Given the description of an element on the screen output the (x, y) to click on. 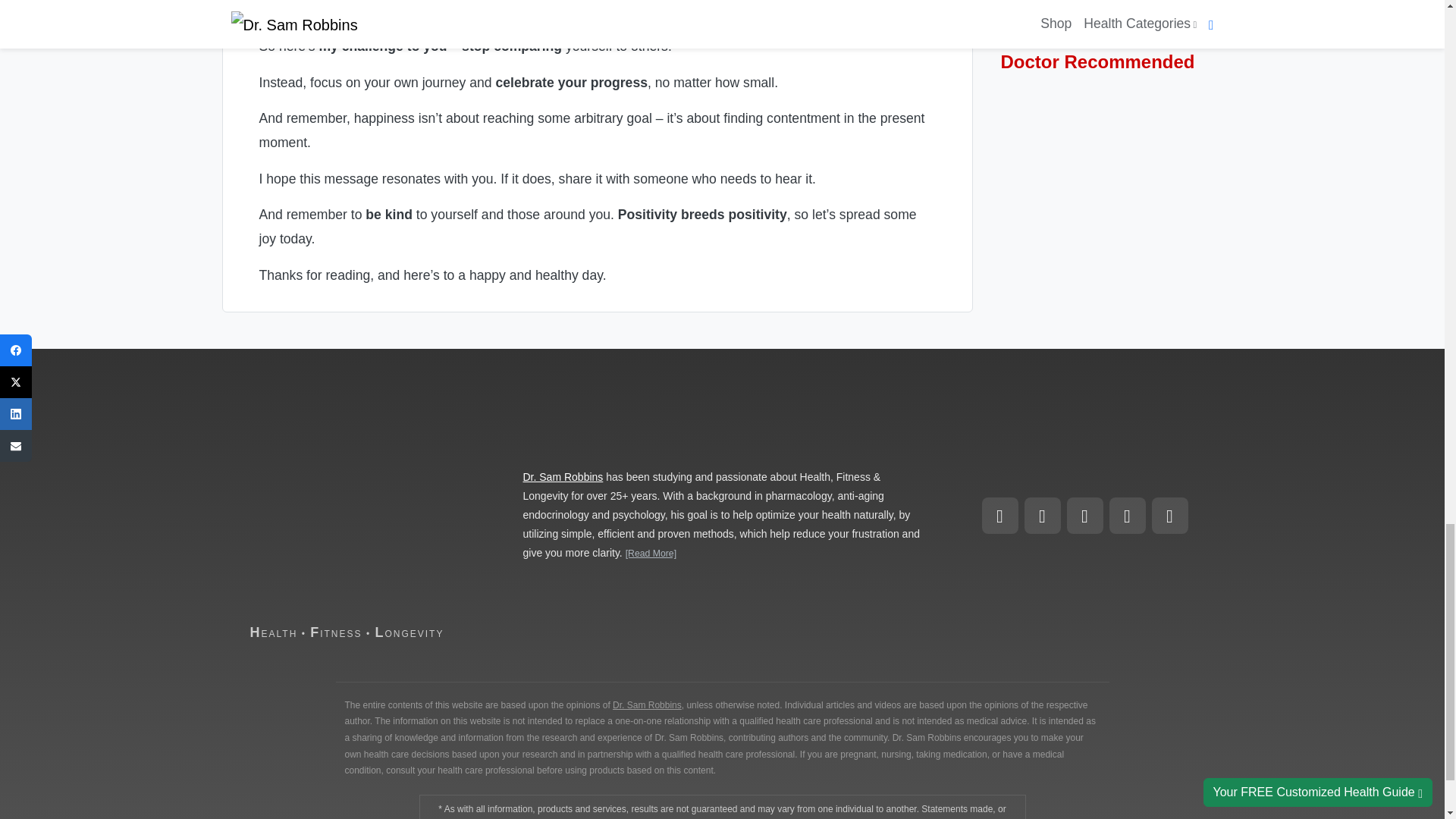
Twitter (1126, 515)
Linkedin (1083, 515)
Instagram (1041, 515)
Facebook (999, 515)
Youtube (1169, 515)
Dr. Sam Robbins (563, 476)
